Given the description of an element on the screen output the (x, y) to click on. 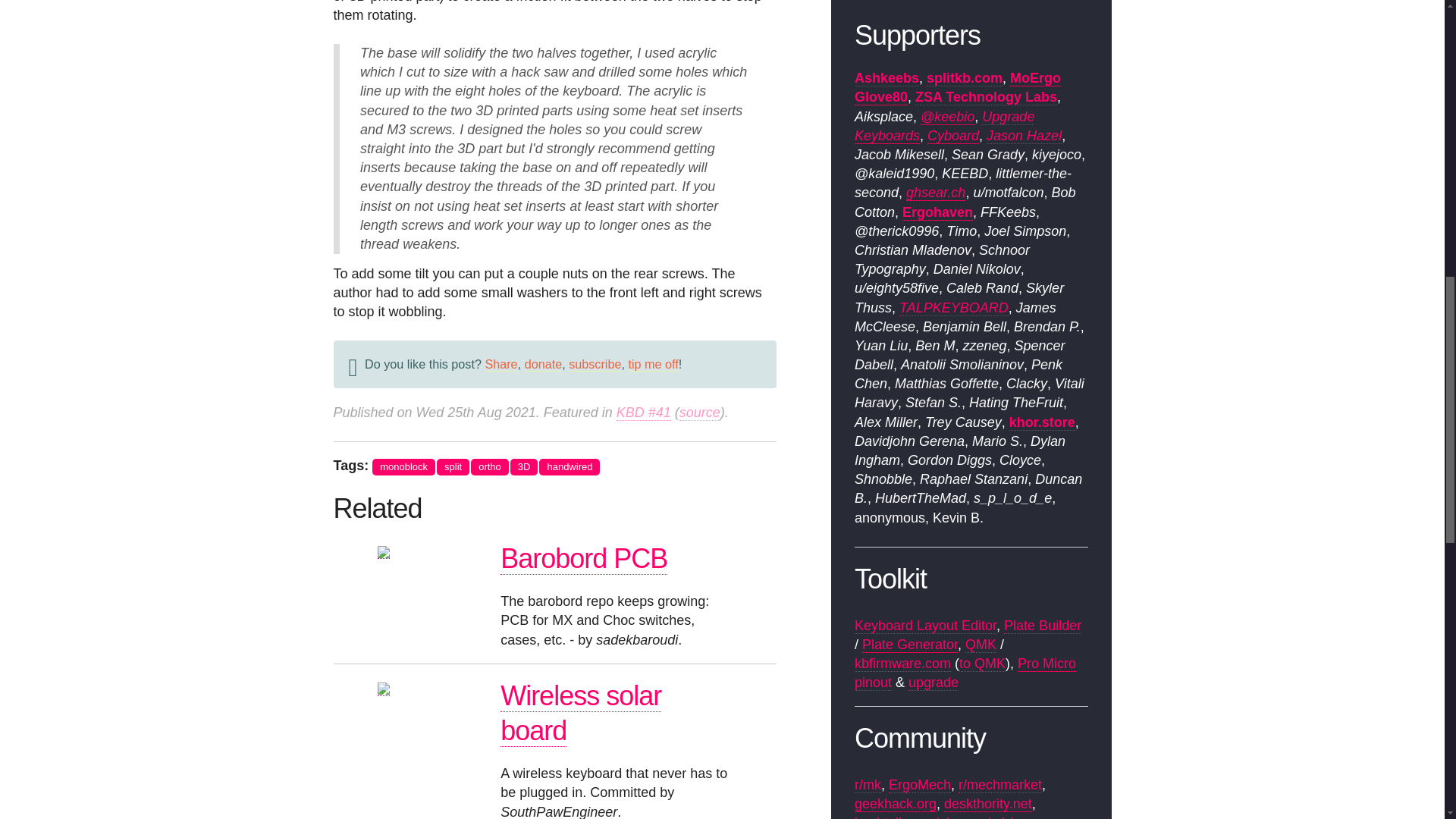
Share (500, 364)
split (452, 466)
subscribe (595, 364)
tip me off (652, 364)
Barobord PCB (583, 558)
donate (543, 364)
ortho (489, 466)
3D (524, 466)
Wireless solar board (580, 713)
handwired (568, 466)
